Given the description of an element on the screen output the (x, y) to click on. 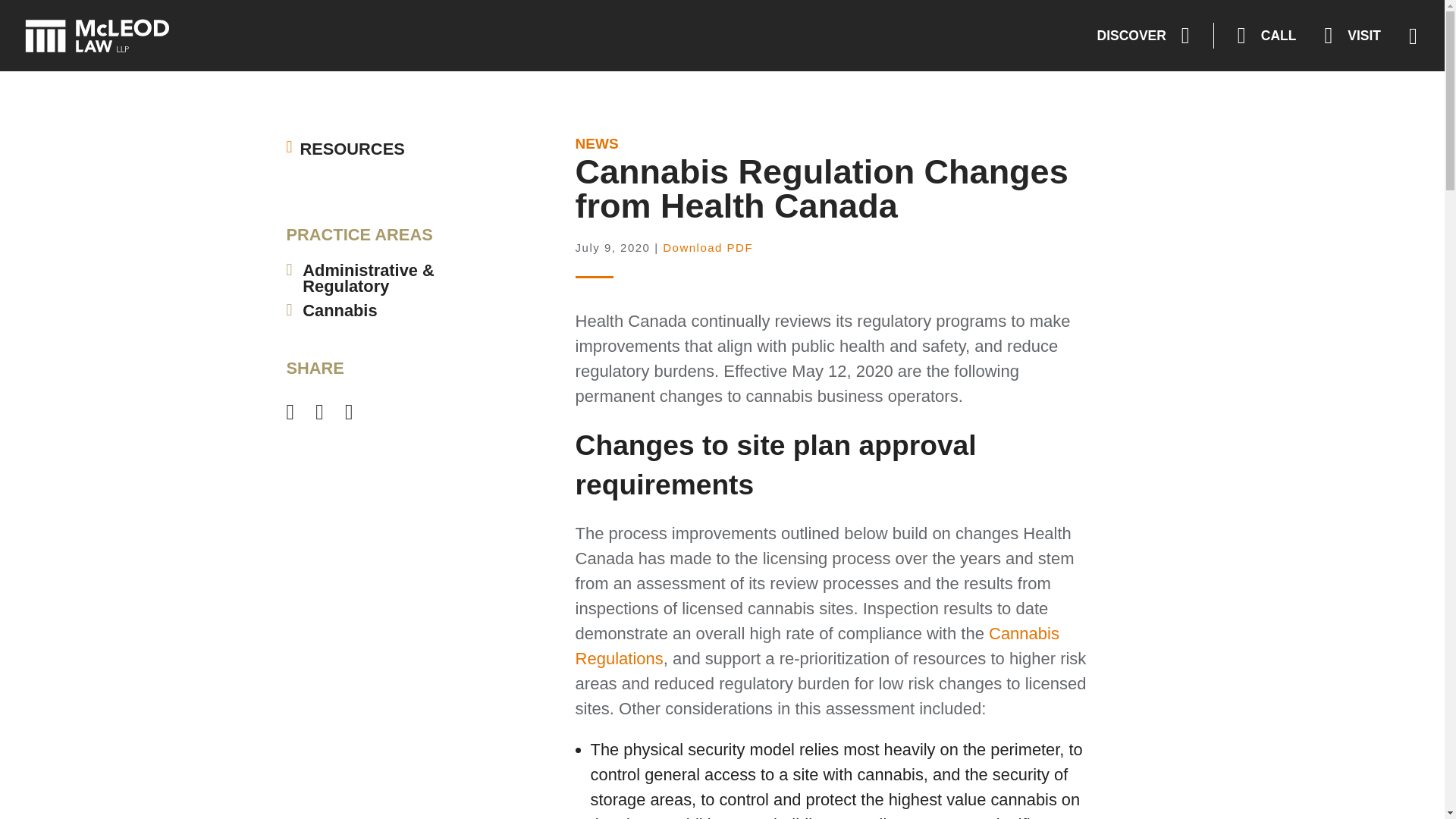
McLeod Law (98, 35)
CALL (1267, 35)
VISIT (1352, 35)
DISCOVER (1143, 35)
Download PDF (707, 246)
McLeod Law (98, 35)
